Given the description of an element on the screen output the (x, y) to click on. 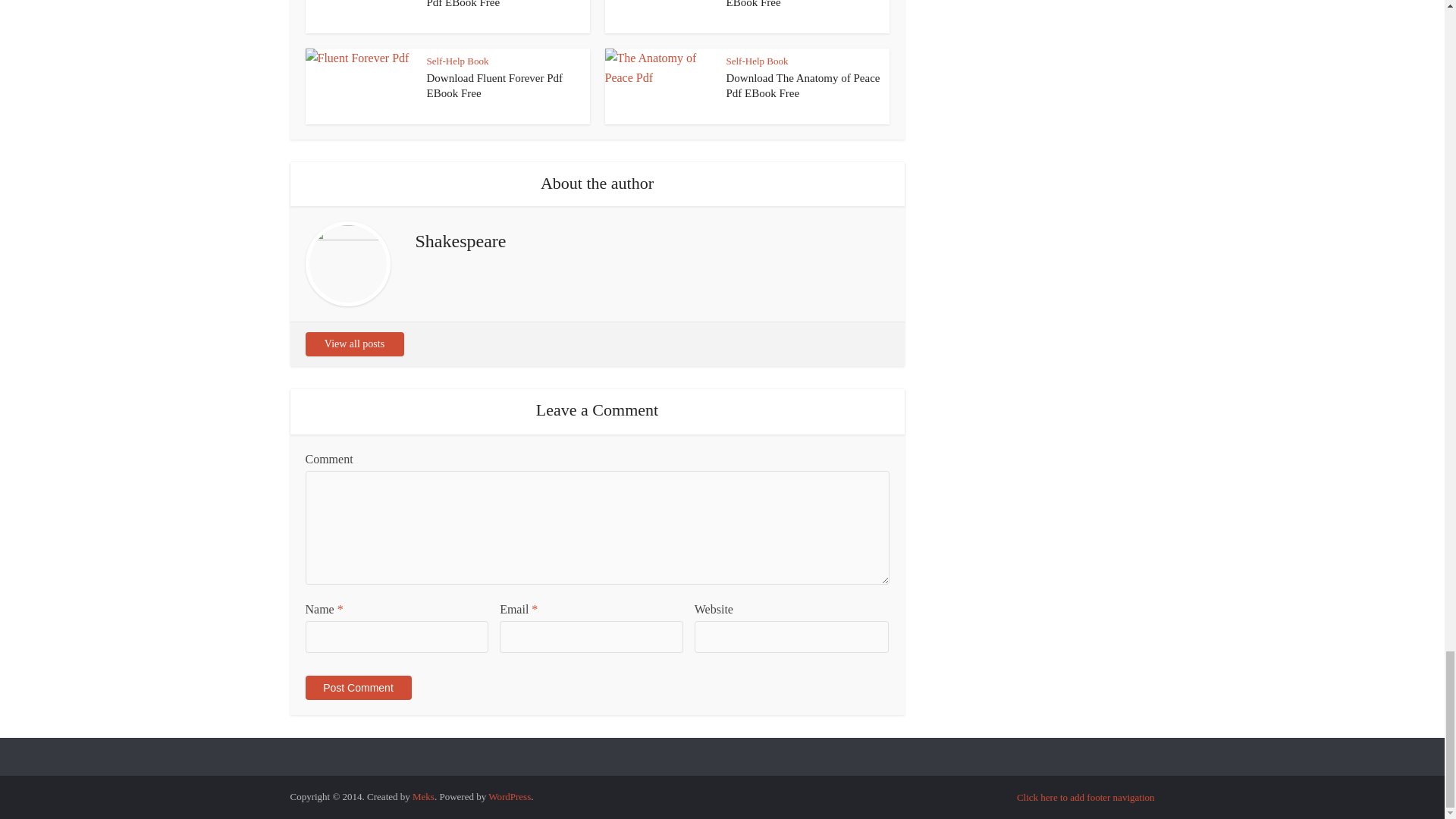
Post Comment (357, 687)
Download The Anatomy of Peace Pdf EBook Free (803, 85)
Download Failing Forward Pdf EBook Free (797, 4)
Download Fluent Forever Pdf EBook Free (494, 85)
Download Authentic Happiness Pdf EBook Free (498, 4)
Download Authentic Happiness Pdf EBook Free (498, 4)
